Given the description of an element on the screen output the (x, y) to click on. 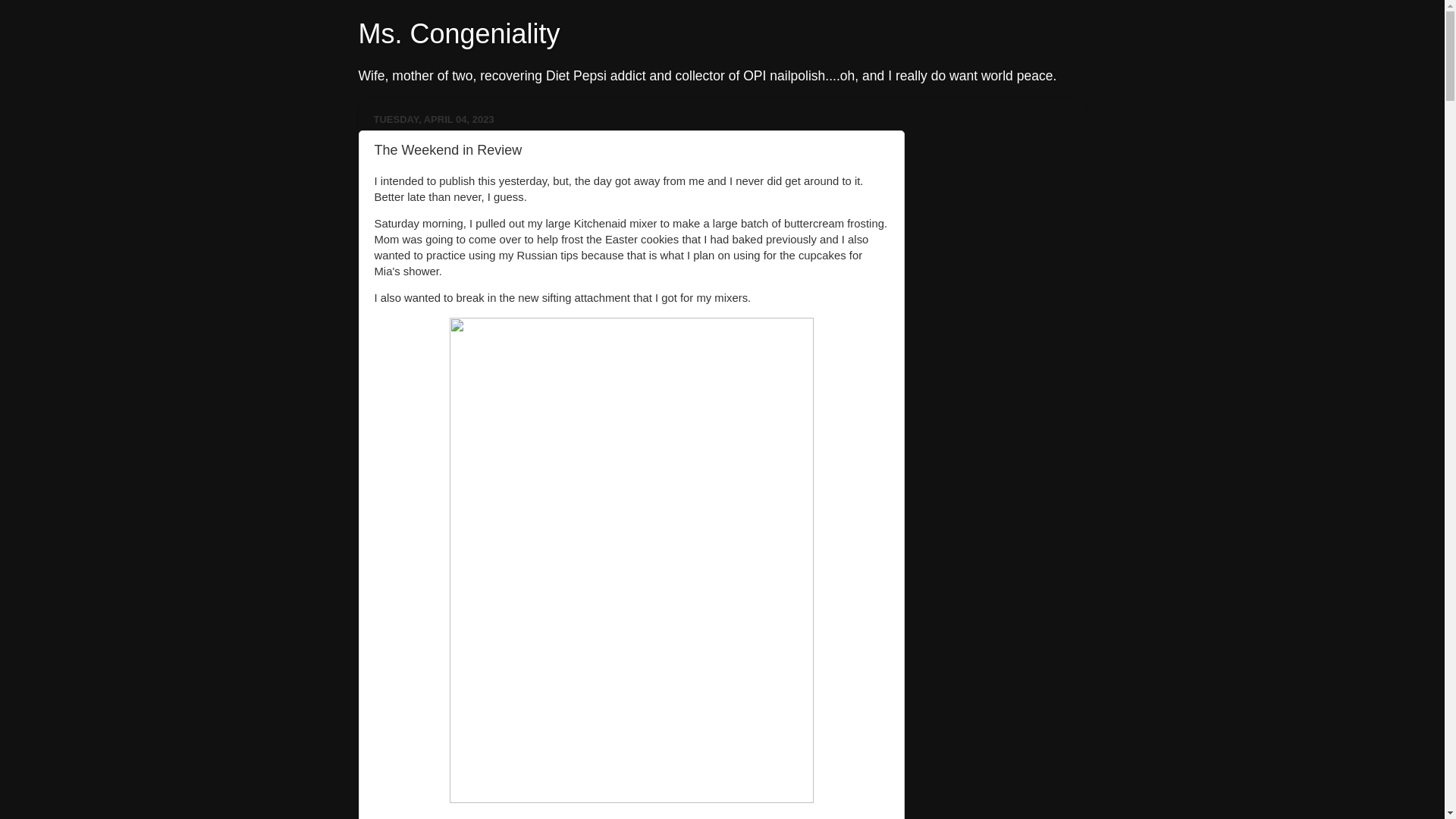
Ms. Congeniality (458, 33)
